Given the description of an element on the screen output the (x, y) to click on. 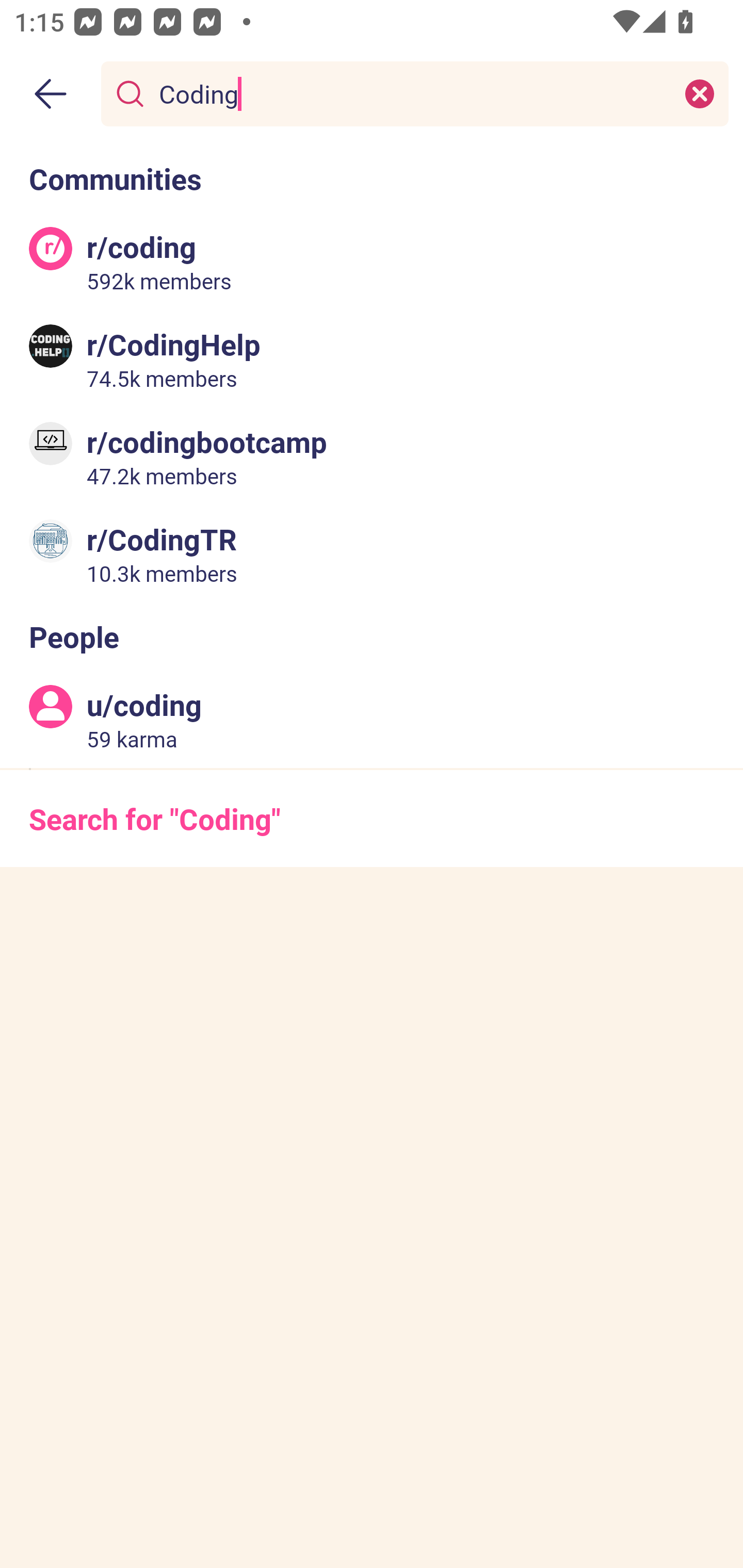
Back (50, 93)
Coding (410, 93)
Clear search (699, 93)
r/coding 592k members 592 thousand members (371, 261)
r/CodingHelp 74.5k members 74.5 thousand members (371, 358)
r/CodingTR 10.3k members 10.3 thousand members (371, 553)
u/coding 59 karma 59 karma (371, 719)
Search for "Coding" (371, 818)
